Given the description of an element on the screen output the (x, y) to click on. 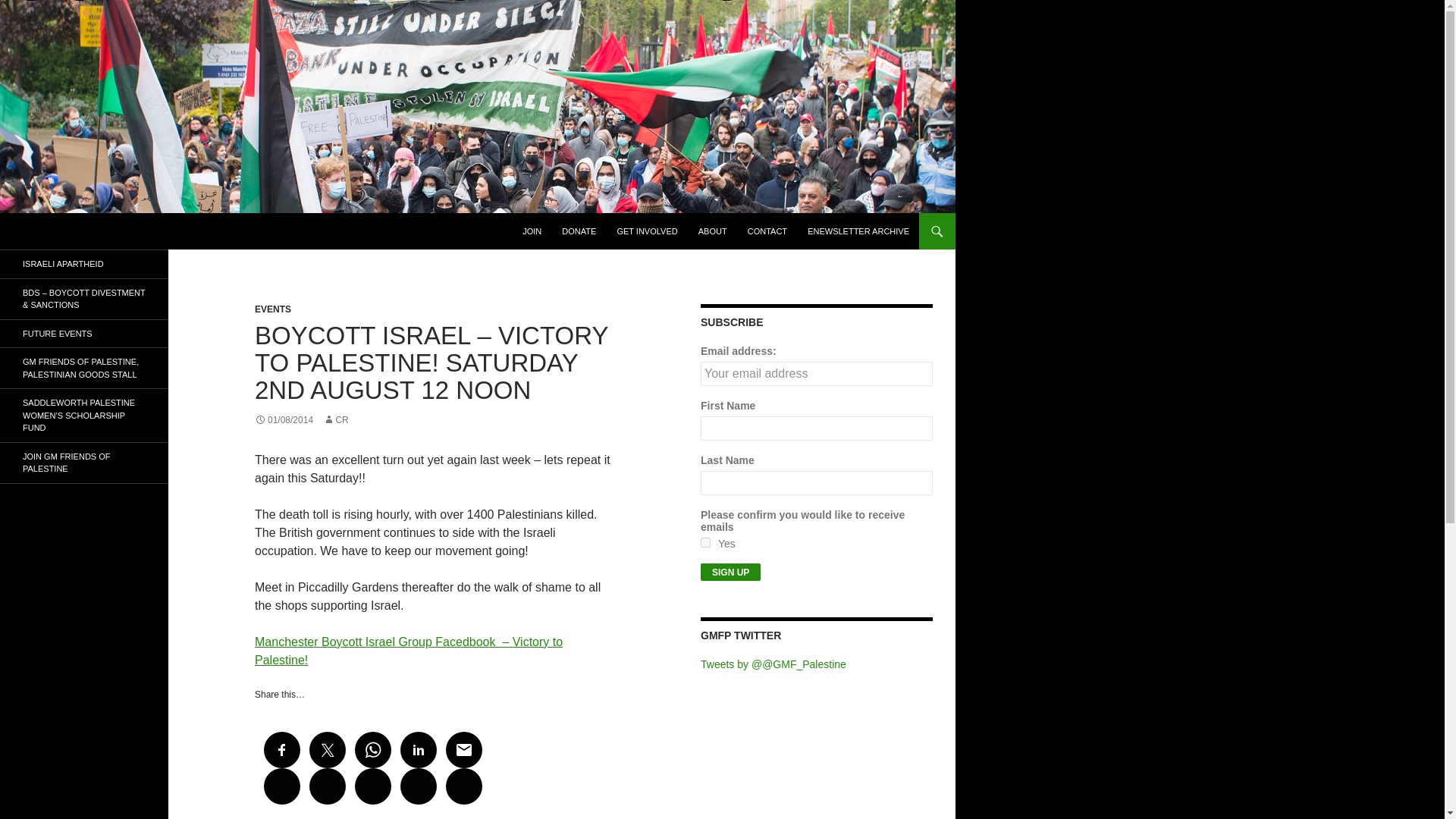
Sign up (730, 571)
Sign up (730, 571)
FUTURE EVENTS (84, 334)
CR (335, 419)
ABOUT (712, 230)
EVENTS (272, 308)
GET INVOLVED (646, 230)
GM FRIENDS OF PALESTINE, PALESTINIAN GOODS STALL (84, 368)
CONTACT (767, 230)
JOIN (531, 230)
DONATE (579, 230)
GM Friends of Palestine (100, 230)
ISRAELI APARTHEID (84, 264)
